Given the description of an element on the screen output the (x, y) to click on. 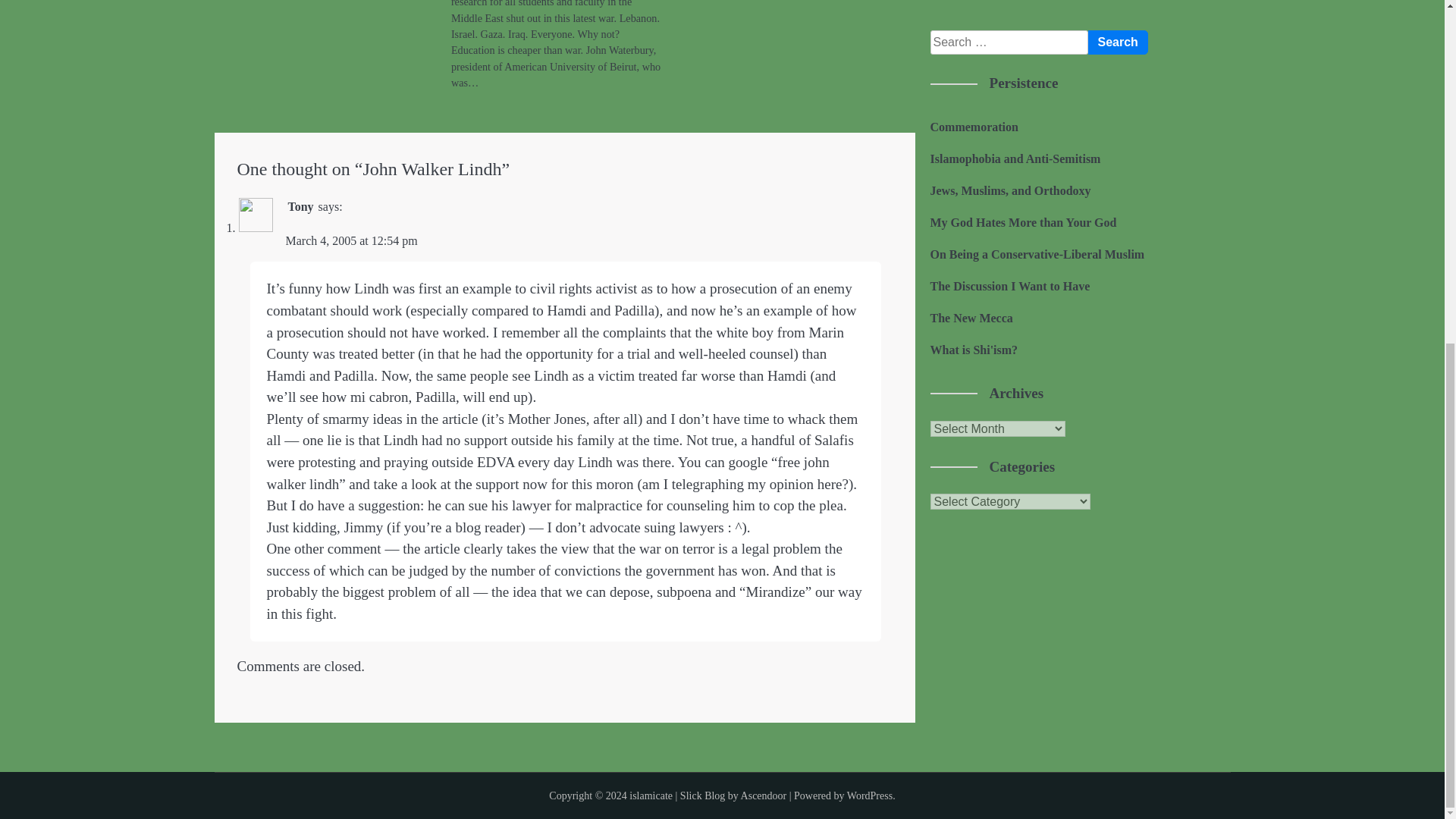
March 4, 2005 at 12:54 pm (350, 240)
WordPress (869, 795)
islamicate (650, 795)
Ascendoor (764, 795)
